Given the description of an element on the screen output the (x, y) to click on. 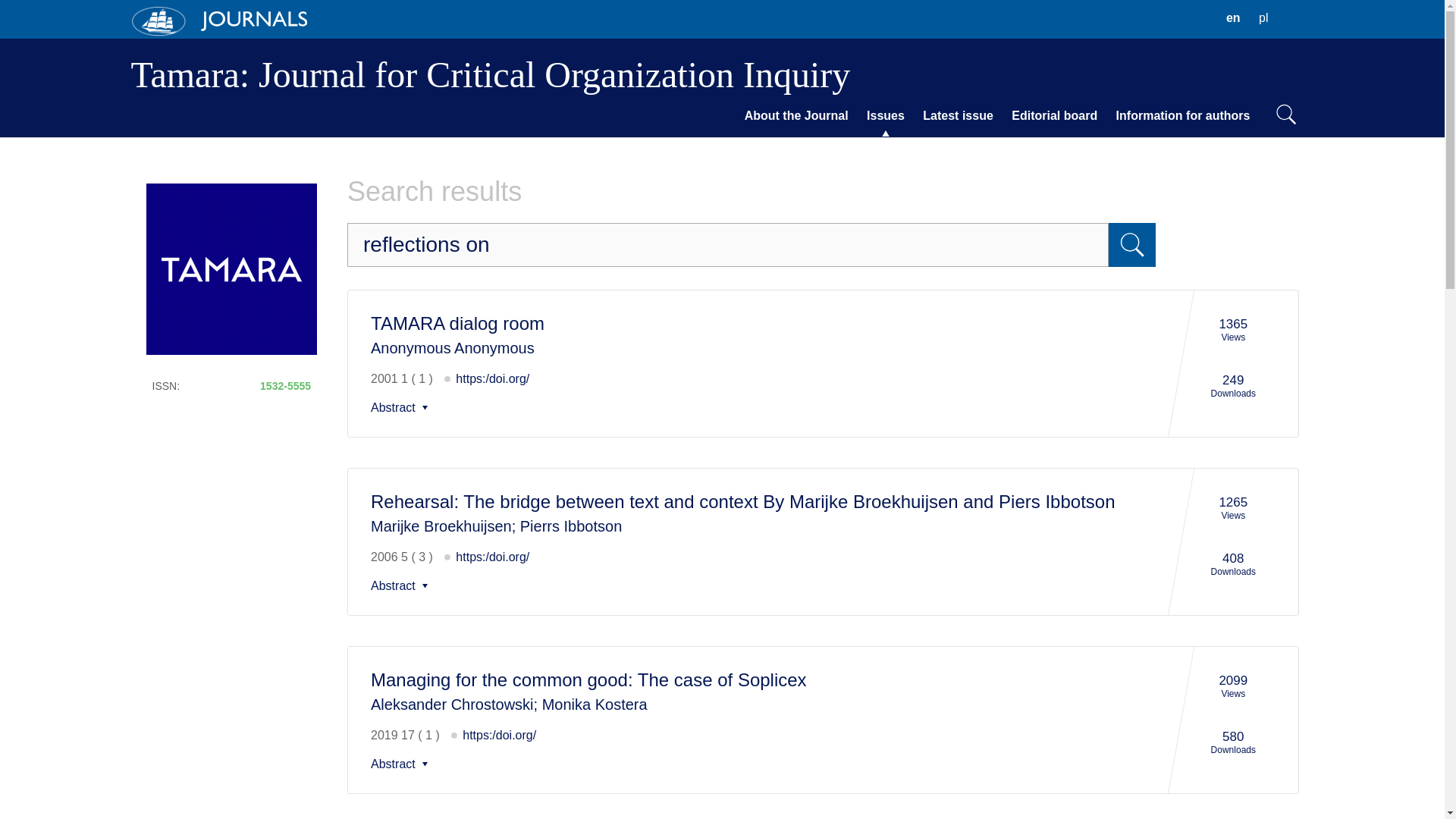
en (1232, 18)
Managing for the common good: The case of Soplicex (588, 679)
Editorial board (1054, 115)
Information for authors (402, 407)
Tamara: Journal for Critical Organization Inquiry (402, 764)
reflections on (1182, 115)
About the Journal (490, 74)
Latest issue (727, 244)
TAMARA dialog room (402, 585)
Issues (796, 115)
